Given the description of an element on the screen output the (x, y) to click on. 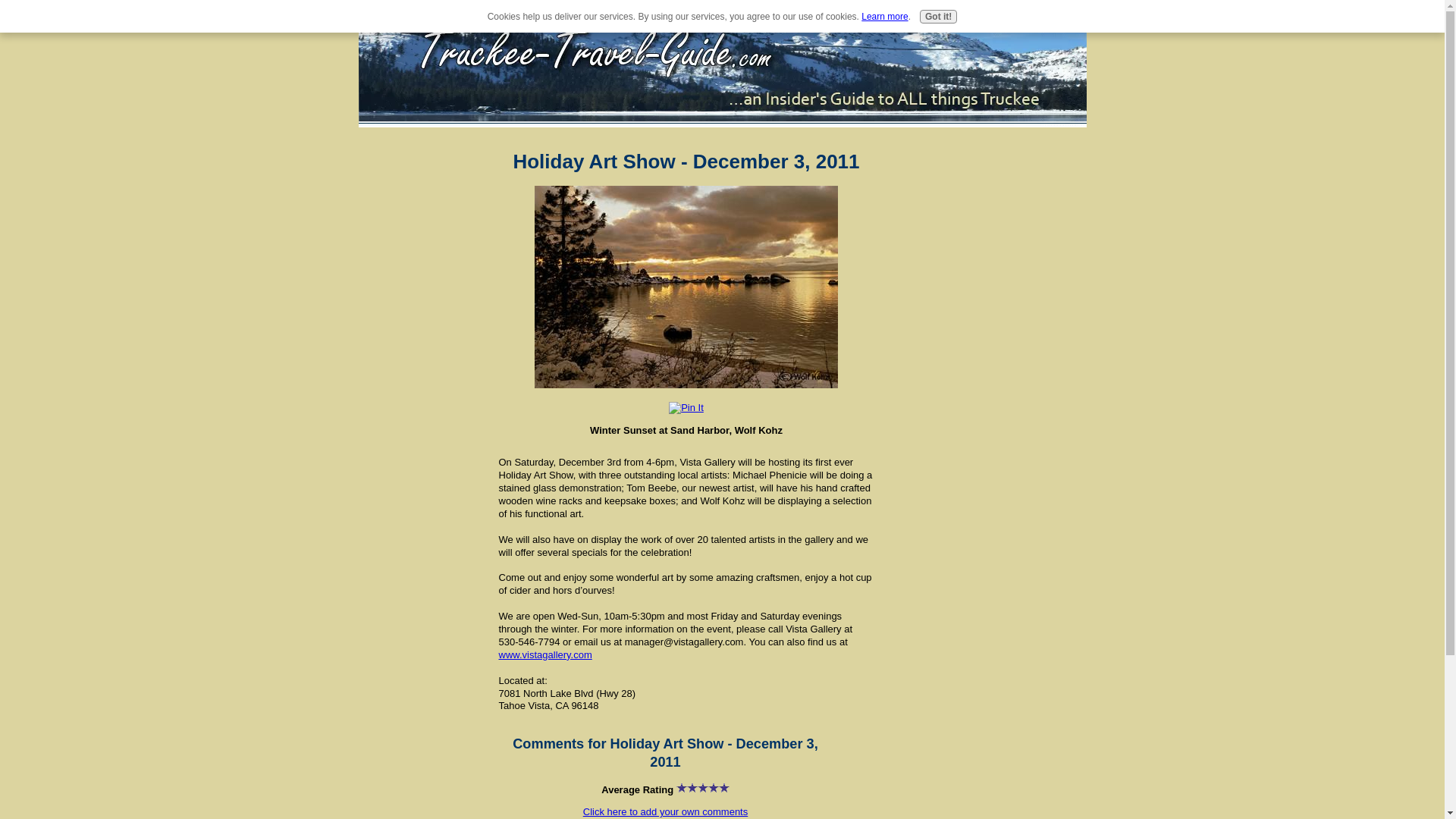
Click here to add your own comments (665, 811)
Learn more (884, 16)
Got it! (938, 16)
Pin It (685, 408)
www.vistagallery.com (545, 654)
Winter Sunset at Sand Harbor, Wolf Kohz (686, 286)
